Given the description of an element on the screen output the (x, y) to click on. 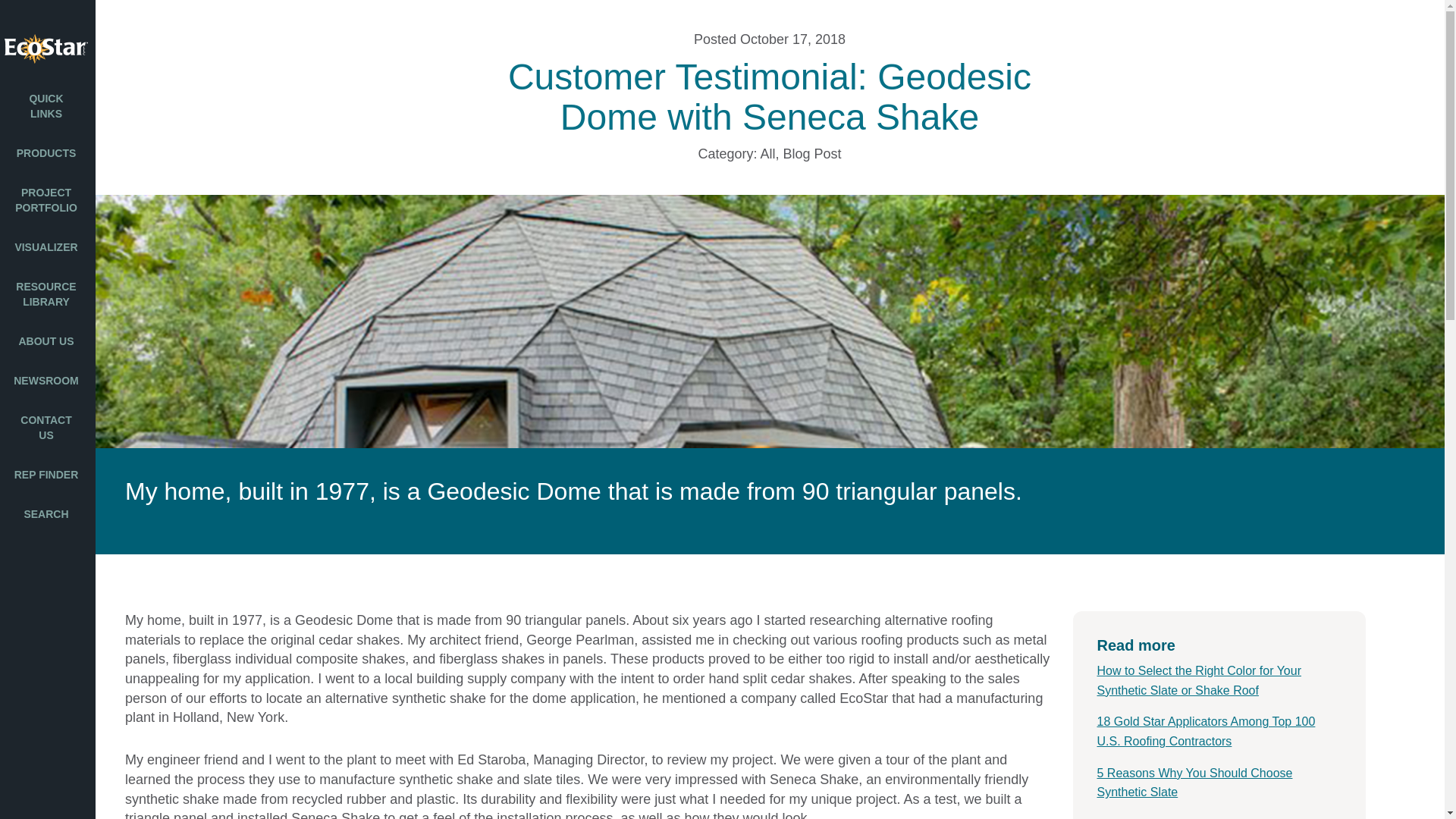
PROJECT PORTFOLIO (48, 199)
PRODUCTS (48, 152)
Accessories (11, 512)
5 Reasons Why You Should Choose Synthetic Slate (1194, 782)
Majestic Niagara (29, 182)
Empire Niagara Concrete (26, 478)
Majestic Niagara Concrete (29, 435)
Majestic Niagara (29, 318)
REP FINDER (48, 474)
for Property Owners (21, 108)
Color Options (23, 249)
EcoStar (48, 48)
Blog Post (812, 153)
